Given the description of an element on the screen output the (x, y) to click on. 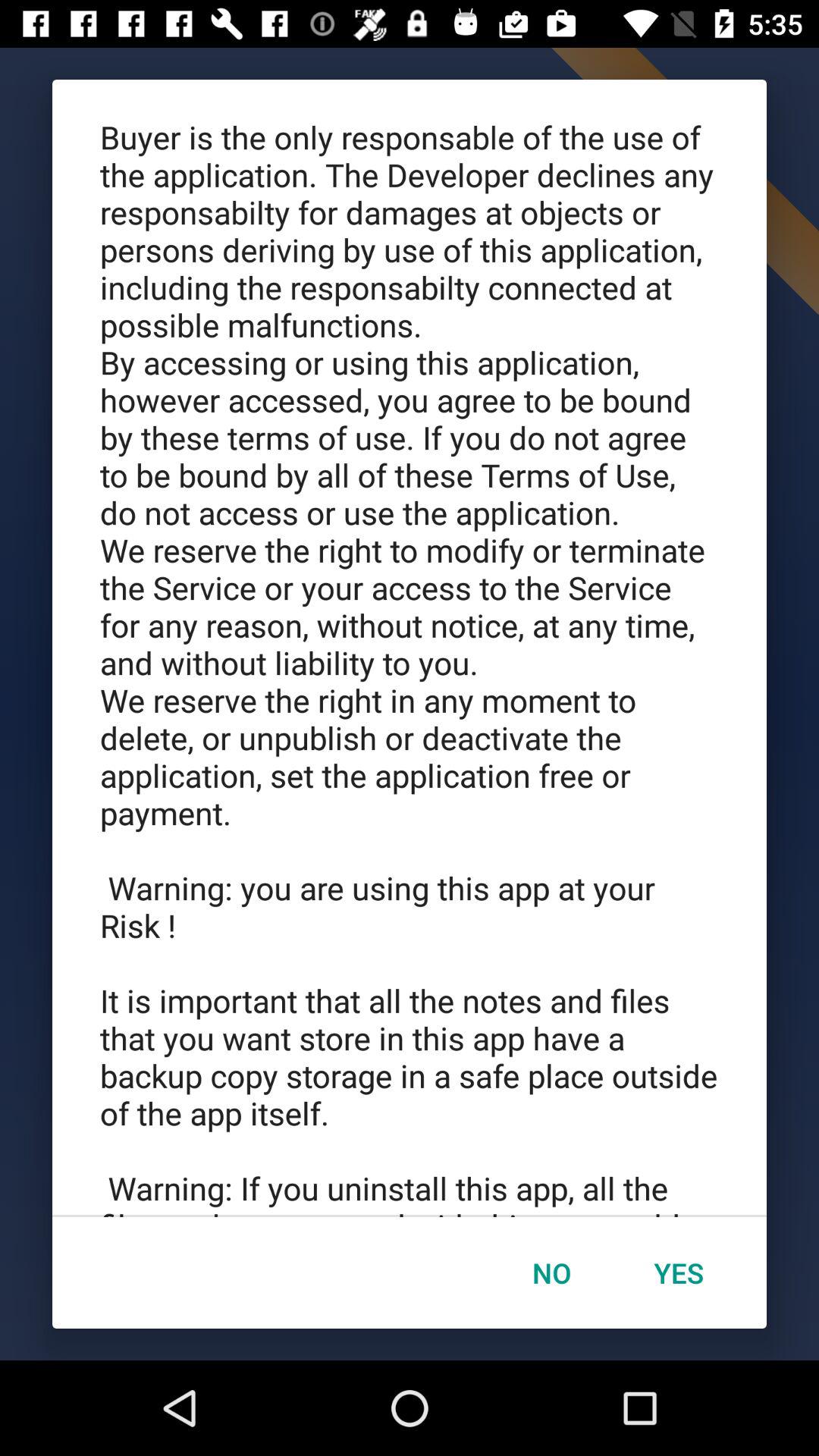
flip to yes button (678, 1272)
